Given the description of an element on the screen output the (x, y) to click on. 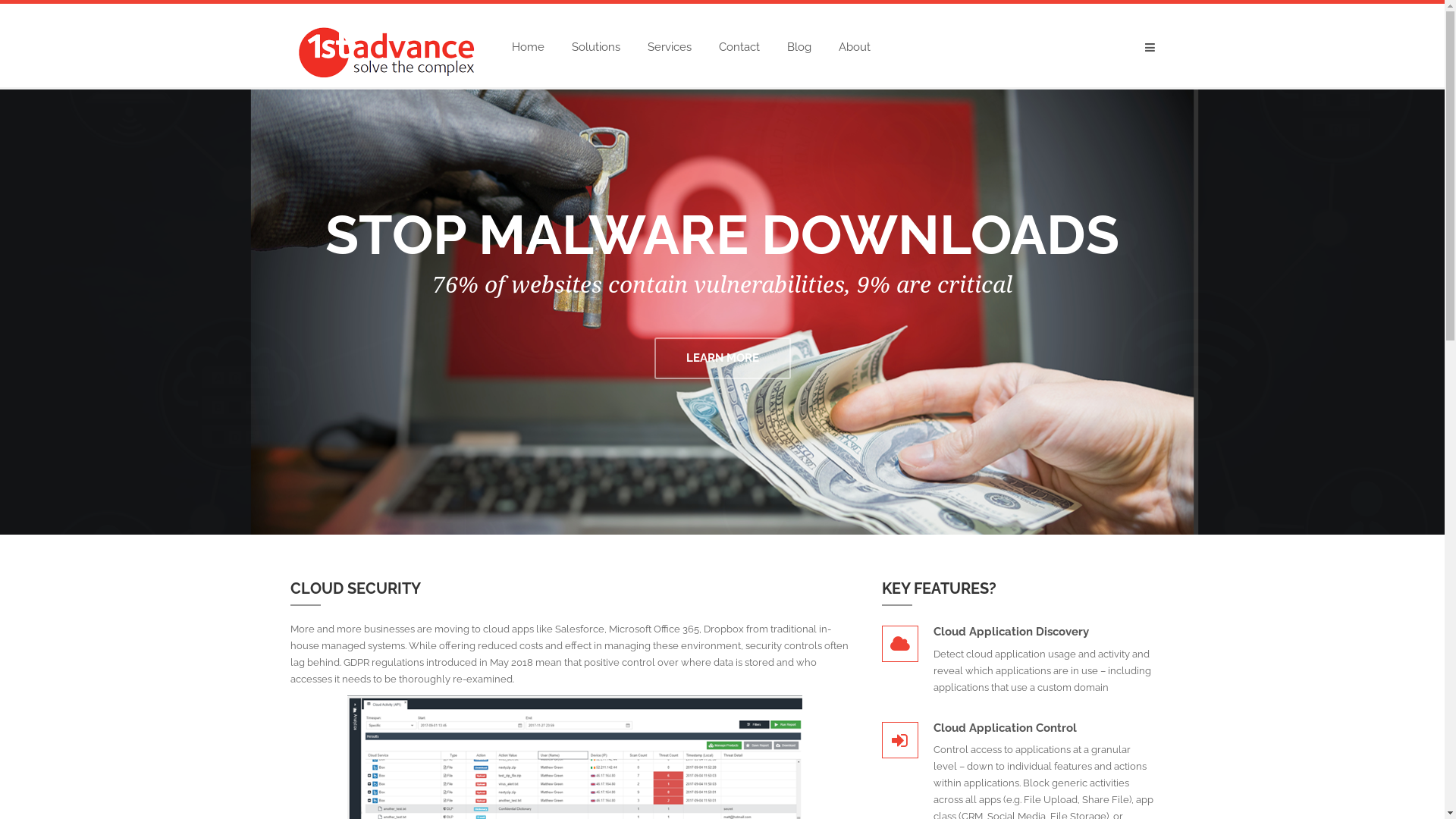
Contact Element type: text (739, 46)
Home Element type: text (527, 46)
Solutions Element type: text (595, 46)
Services Element type: text (669, 46)
Blog Element type: text (799, 46)
About Element type: text (854, 46)
